Given the description of an element on the screen output the (x, y) to click on. 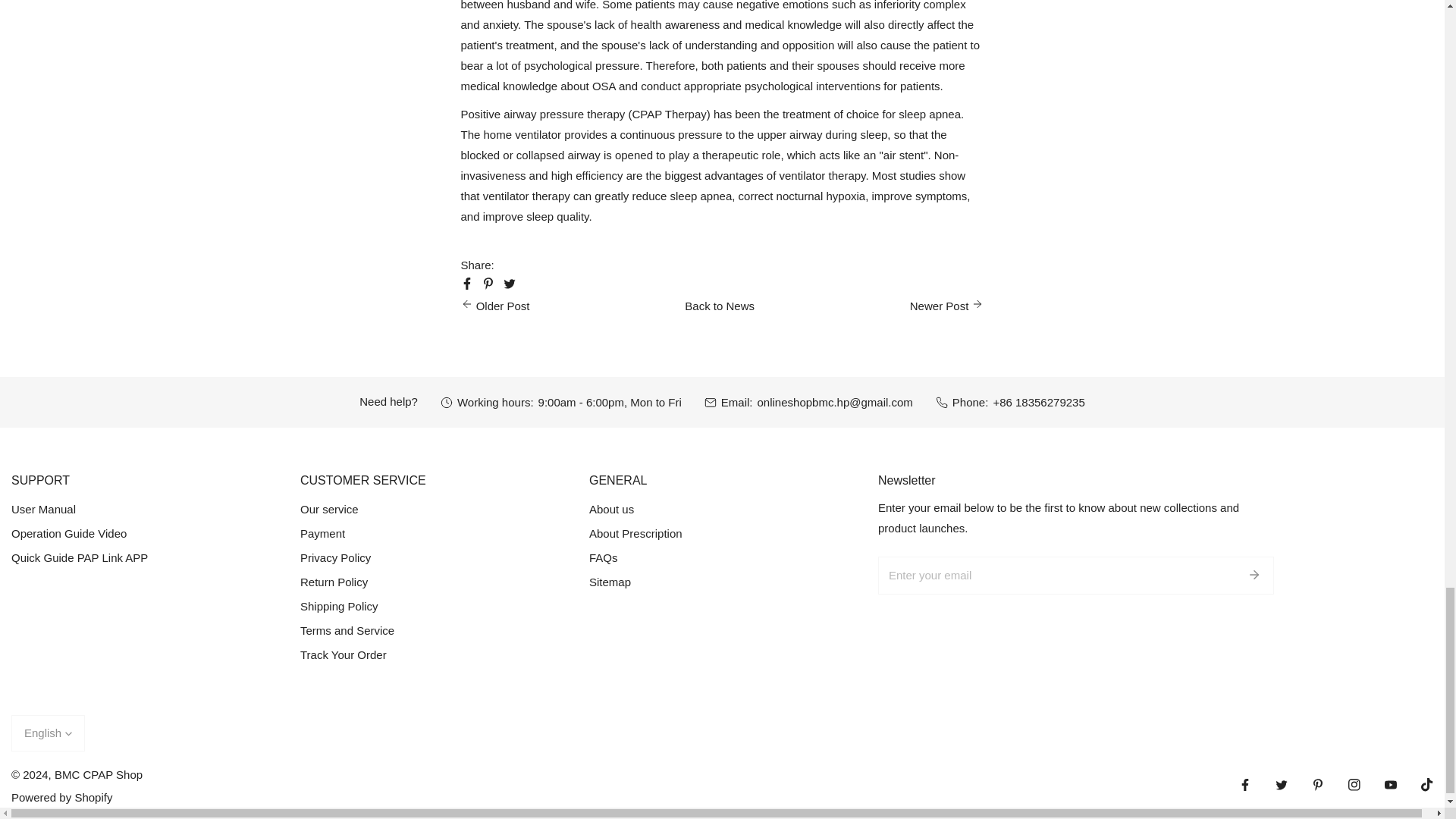
Operation Guide Video (68, 533)
Older Post (495, 305)
Our service (328, 508)
User Manual (43, 508)
Facebook (1245, 784)
Payment (322, 533)
Instagram (1354, 784)
Twitter (1281, 784)
Quick Guide PAP Link APP (79, 557)
Back to News (719, 305)
Pinterest (1318, 784)
TikTok (1427, 784)
Newer Post (947, 305)
YouTube (1391, 784)
Privacy Policy (335, 557)
